Given the description of an element on the screen output the (x, y) to click on. 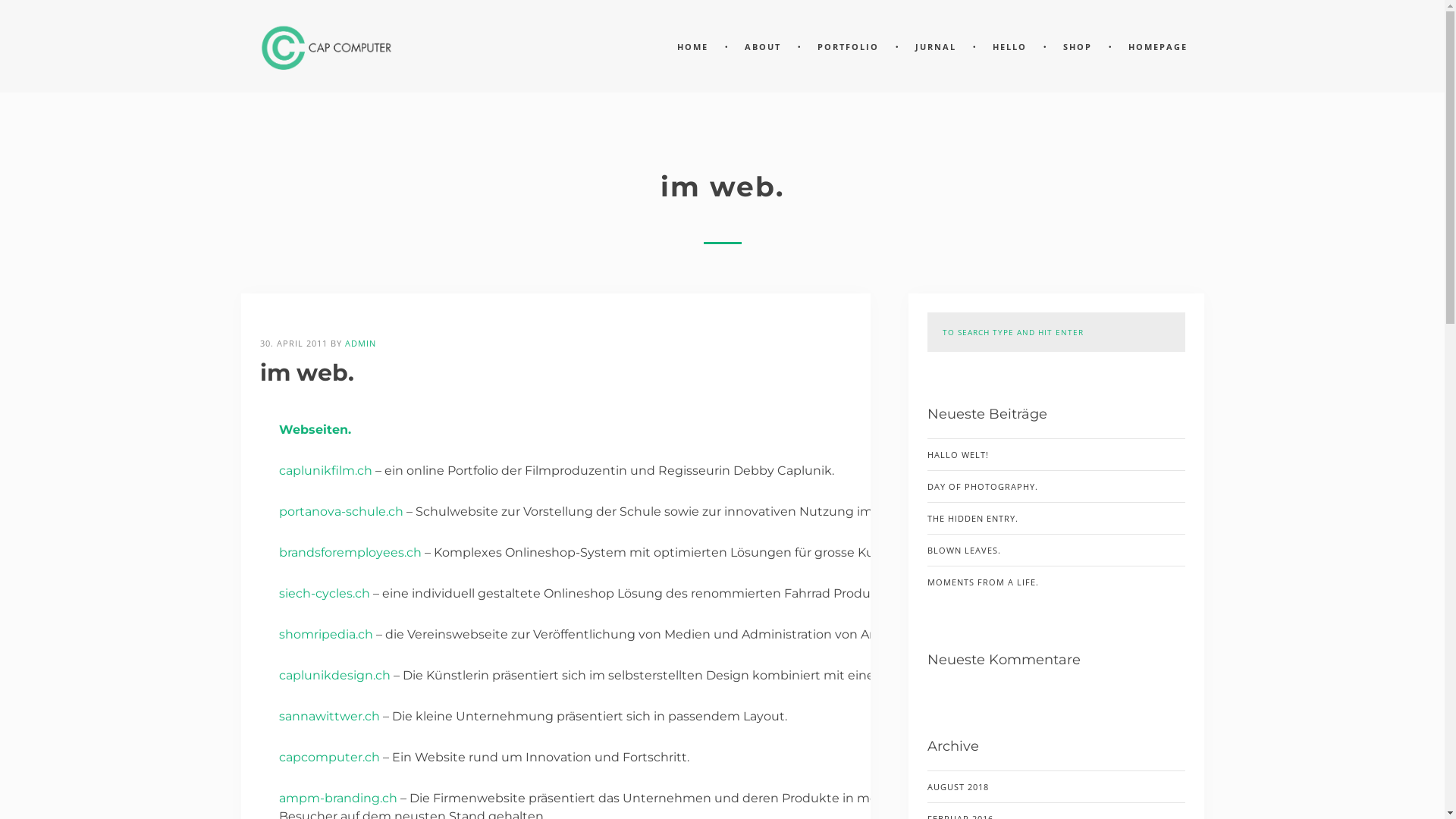
caplunikdesign.ch Element type: text (334, 675)
BLOWN LEAVES. Element type: text (1055, 549)
JURNAL Element type: text (934, 47)
shomripedia.ch Element type: text (326, 634)
sannawittwer.ch Element type: text (329, 716)
HALLO WELT! Element type: text (1055, 454)
DAY OF PHOTOGRAPHY. Element type: text (1055, 486)
THE HIDDEN ENTRY. Element type: text (1055, 517)
AUGUST 2018 Element type: text (957, 786)
SHOP Element type: text (1077, 47)
brandsforemployees.ch Element type: text (350, 552)
MOMENTS FROM A LIFE. Element type: text (1055, 581)
caplunikfilm.ch Element type: text (325, 470)
ampm-branding.ch Element type: text (338, 797)
HOMEPAGE Element type: text (1157, 47)
ADMIN Element type: text (359, 342)
PORTFOLIO Element type: text (847, 47)
HELLO Element type: text (1008, 47)
portanova-schule.ch Element type: text (341, 511)
ABOUT Element type: text (762, 47)
capcomputer.ch Element type: text (329, 756)
siech-cycles.ch Element type: text (324, 593)
HOME Element type: text (691, 47)
